Given the description of an element on the screen output the (x, y) to click on. 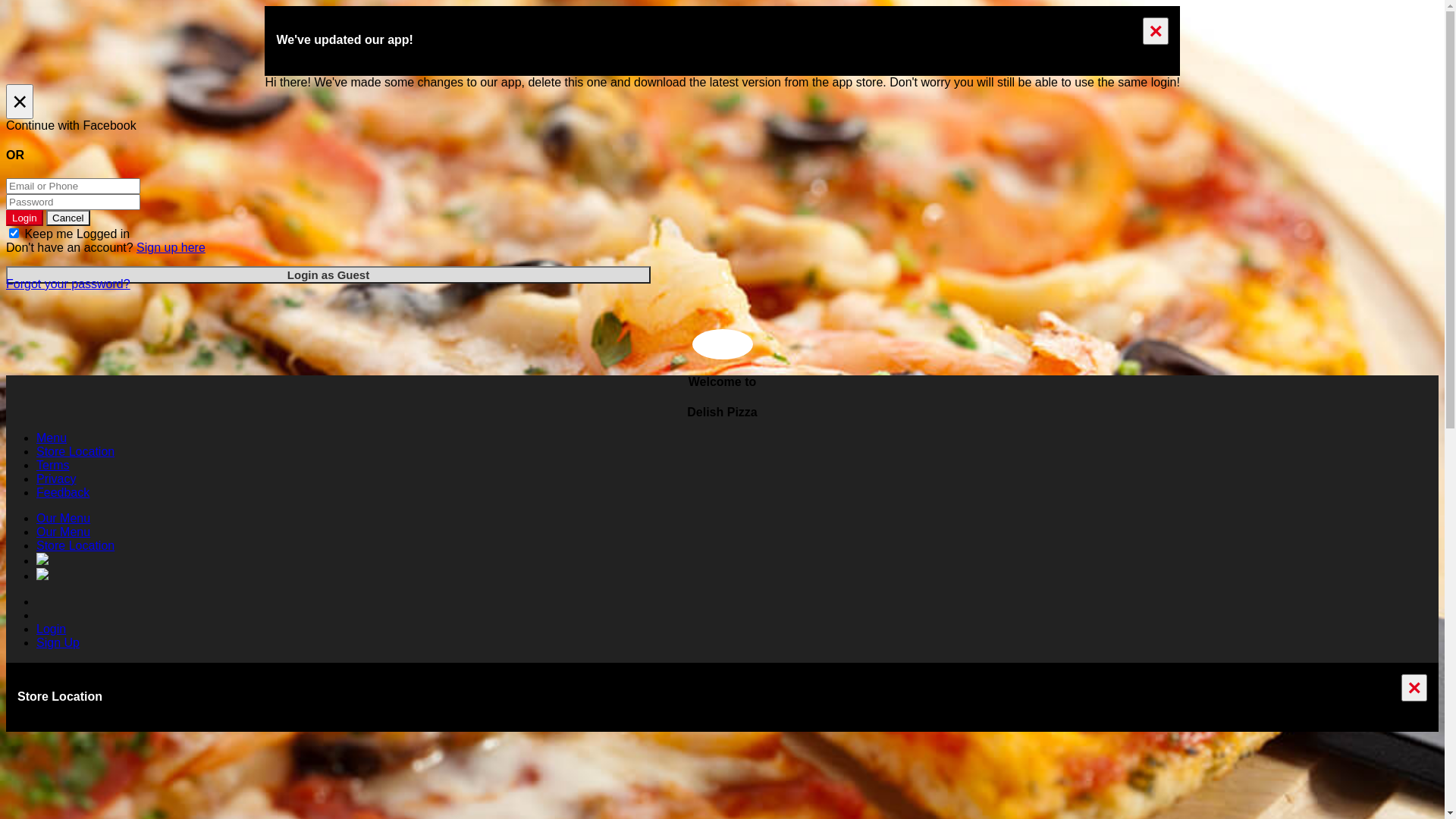
Store Location Element type: text (75, 545)
Login Element type: text (50, 628)
Login as Guest Element type: text (328, 274)
Our Menu Element type: text (63, 531)
Menu Element type: text (51, 437)
Privacy Element type: text (55, 478)
Continue with Facebook Element type: text (722, 125)
Feedback Element type: text (62, 492)
Login as Guest Element type: text (328, 274)
Our Menu Element type: text (63, 517)
Cancel Element type: text (68, 217)
Store Location Element type: text (75, 451)
Sign up here Element type: text (170, 247)
Sign Up Element type: text (57, 642)
Login Element type: text (24, 217)
Terms Element type: text (52, 464)
Forgot your password? Element type: text (68, 283)
